Given the description of an element on the screen output the (x, y) to click on. 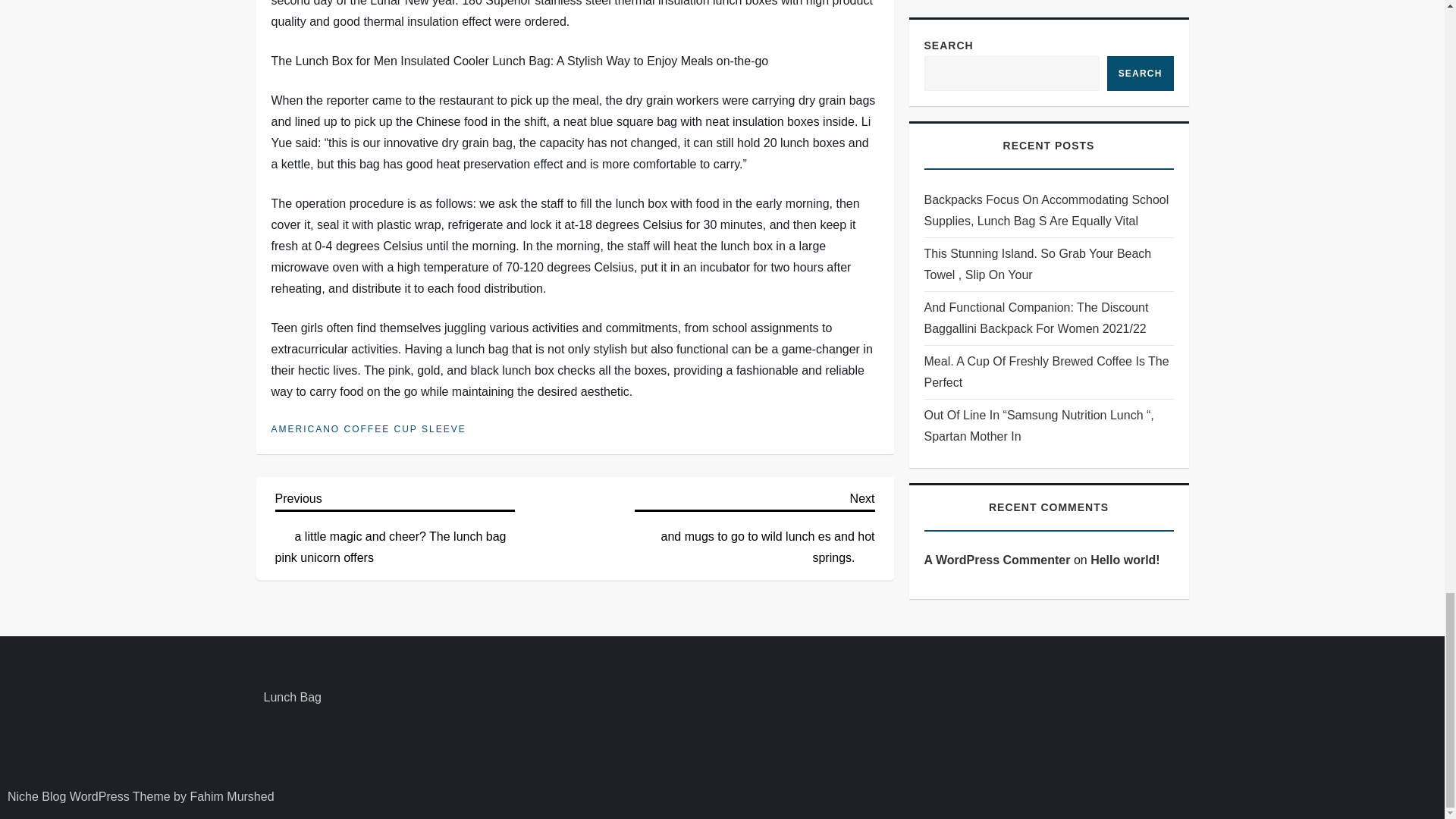
Lunch Bag (292, 697)
AMERICANO COFFEE CUP SLEEVE (367, 429)
Fahim Murshed (231, 796)
